Given the description of an element on the screen output the (x, y) to click on. 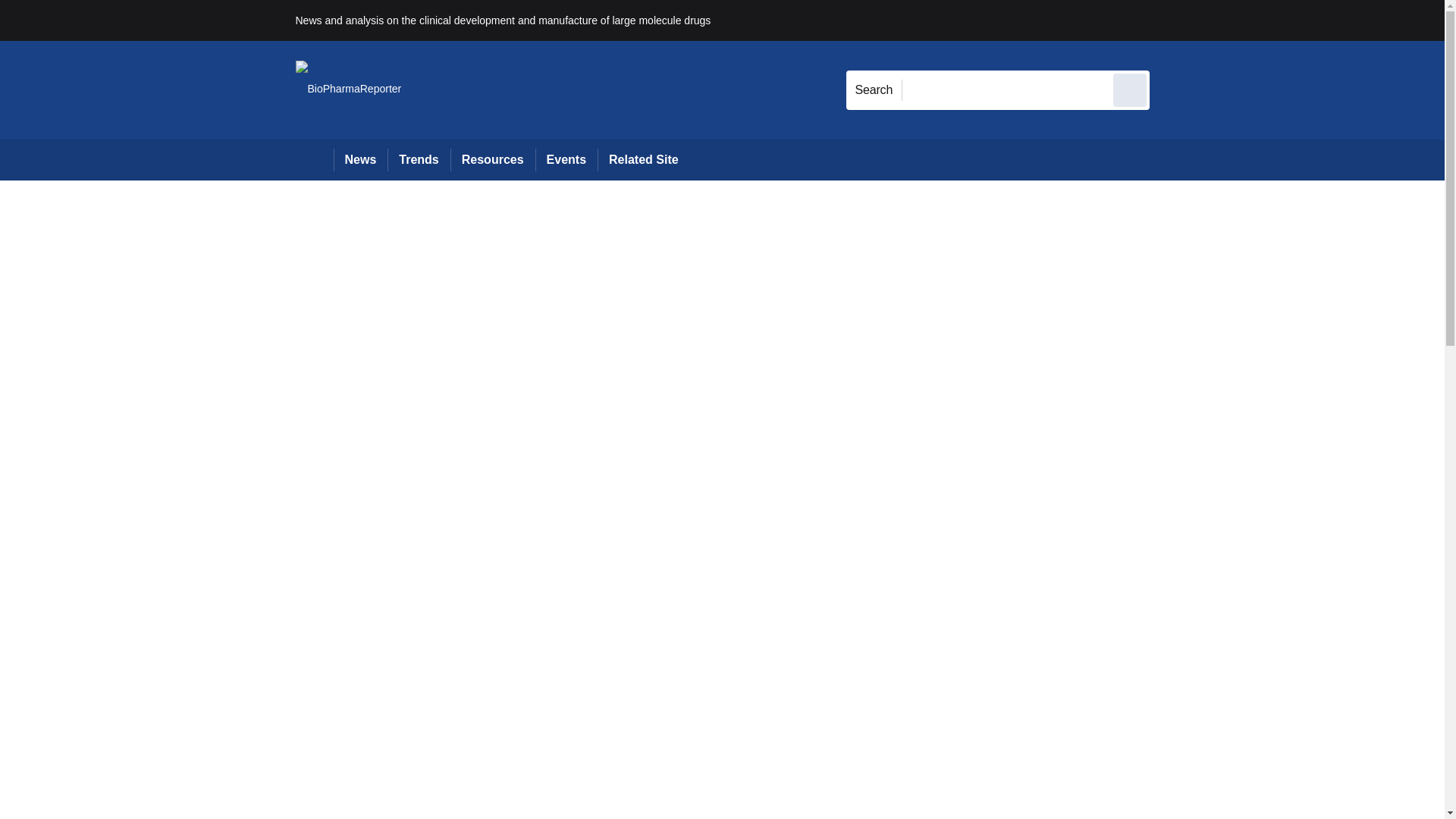
Home (314, 159)
Trends (418, 159)
Sign in (1171, 20)
My account (1256, 20)
Home (313, 159)
REGISTER (1250, 20)
Send (1129, 90)
BioPharmaReporter (348, 89)
Send (1129, 89)
News (360, 159)
